Given the description of an element on the screen output the (x, y) to click on. 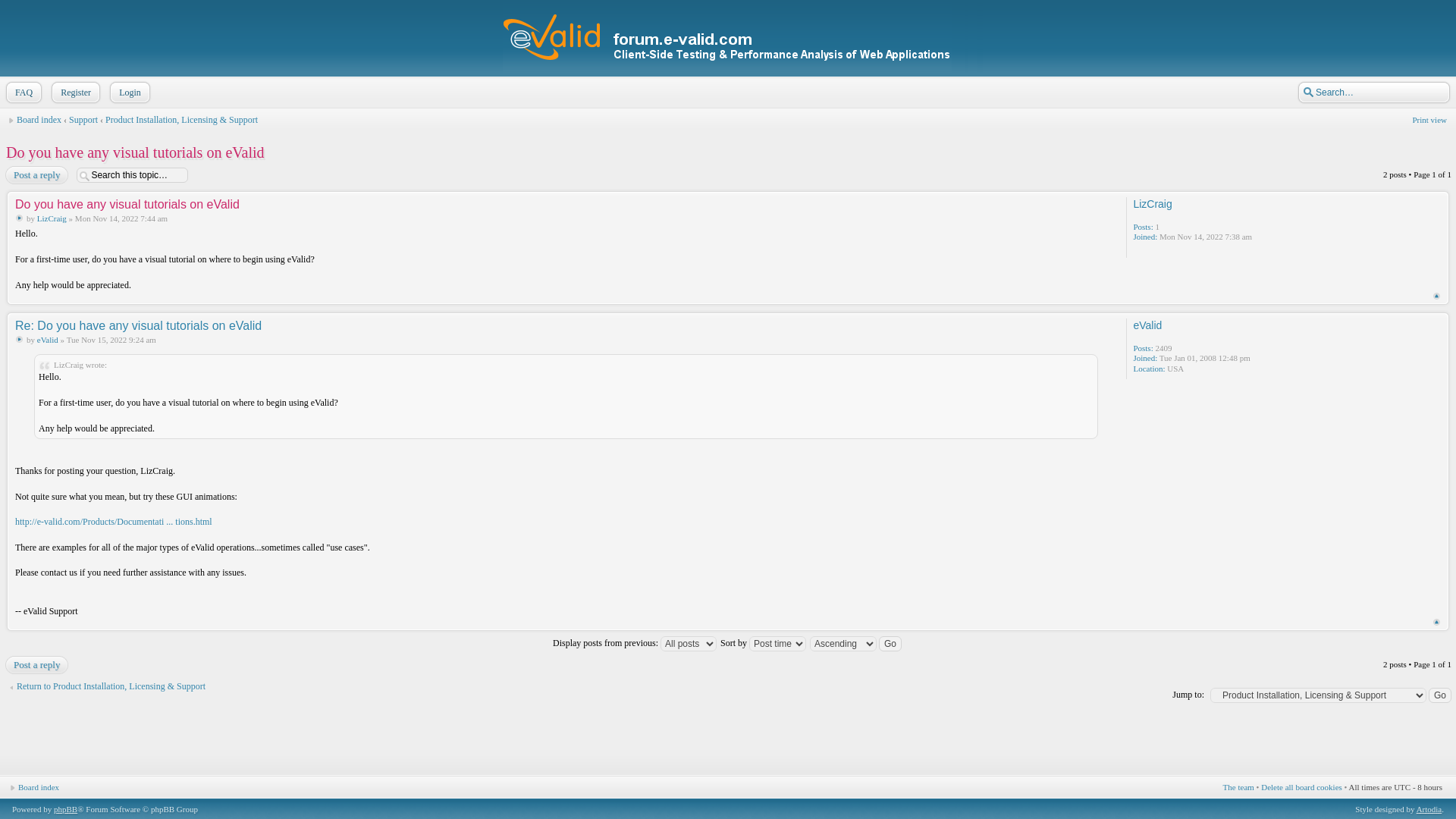
Delete all board cookies (1301, 786)
LizCraig (1152, 203)
Print view (1429, 119)
Post a reply (39, 175)
Go (1439, 694)
Artodia (1429, 809)
phpBB (65, 809)
Search for keywords (1368, 92)
free web buttons (858, 791)
Do you have any visual tutorials on eValid (127, 204)
Top (1436, 622)
Post a reply (39, 664)
FAQ (27, 92)
Board index (38, 119)
free website templates (777, 791)
